Given the description of an element on the screen output the (x, y) to click on. 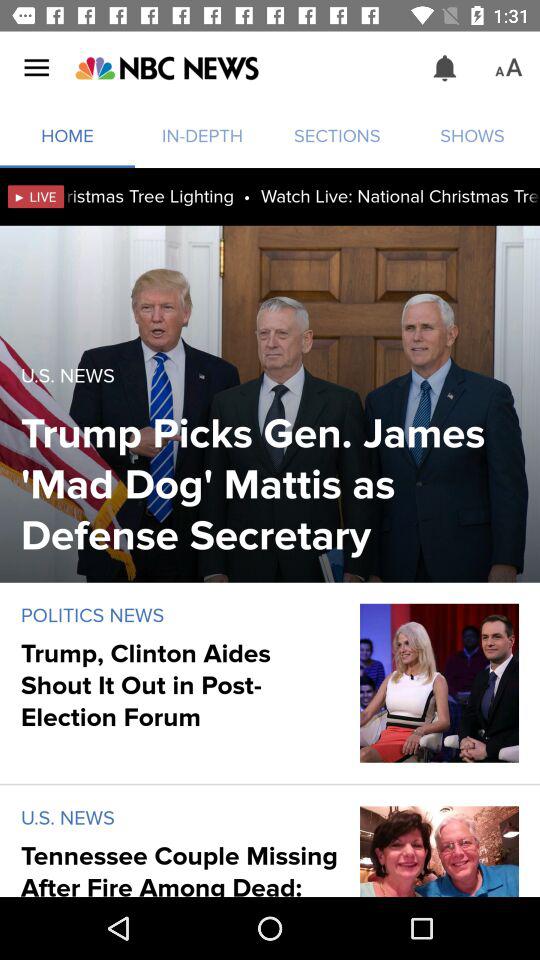
launch the icon above the home icon (166, 68)
